Given the description of an element on the screen output the (x, y) to click on. 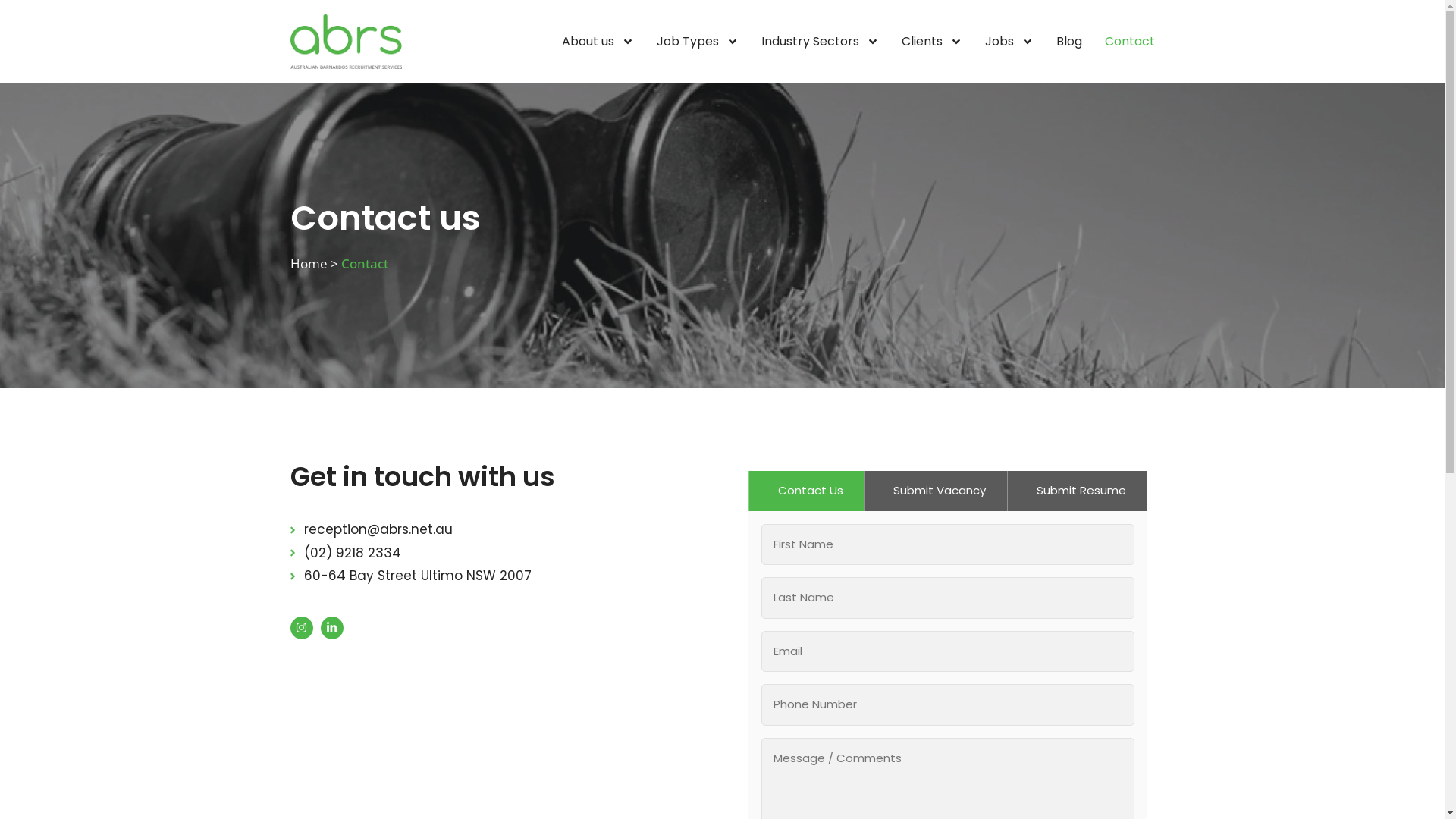
Contact Element type: text (1129, 41)
Clients Element type: text (930, 41)
Blog Element type: text (1068, 41)
Jobs Element type: text (1008, 41)
Home Element type: text (307, 263)
About us Element type: text (597, 41)
Job Types Element type: text (697, 41)
(02) 9218 2334 Element type: text (494, 552)
reception@abrs.net.au Element type: text (494, 529)
Industry Sectors Element type: text (819, 41)
